Given the description of an element on the screen output the (x, y) to click on. 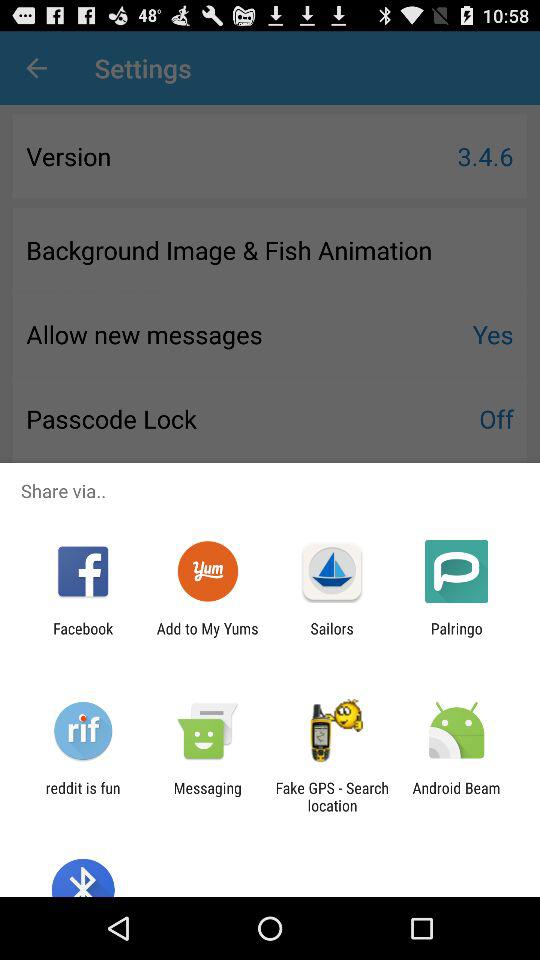
launch messaging app (207, 796)
